Given the description of an element on the screen output the (x, y) to click on. 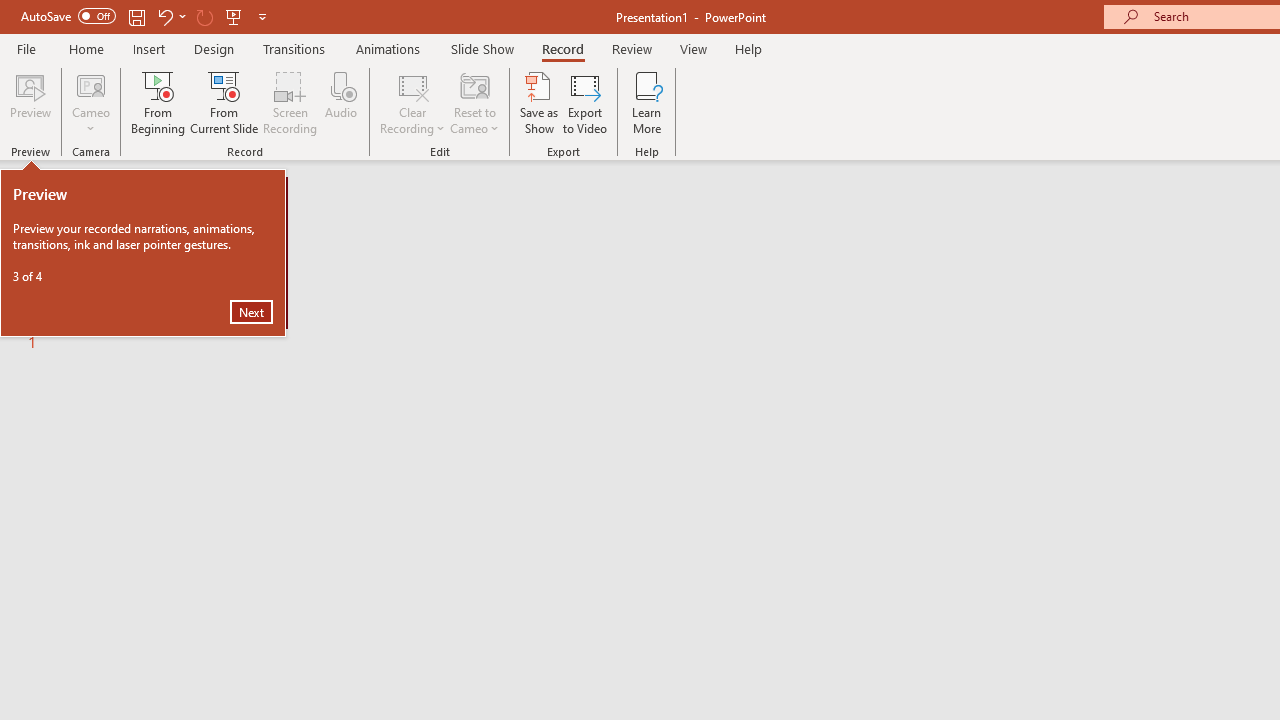
Learn More (646, 102)
